Given the description of an element on the screen output the (x, y) to click on. 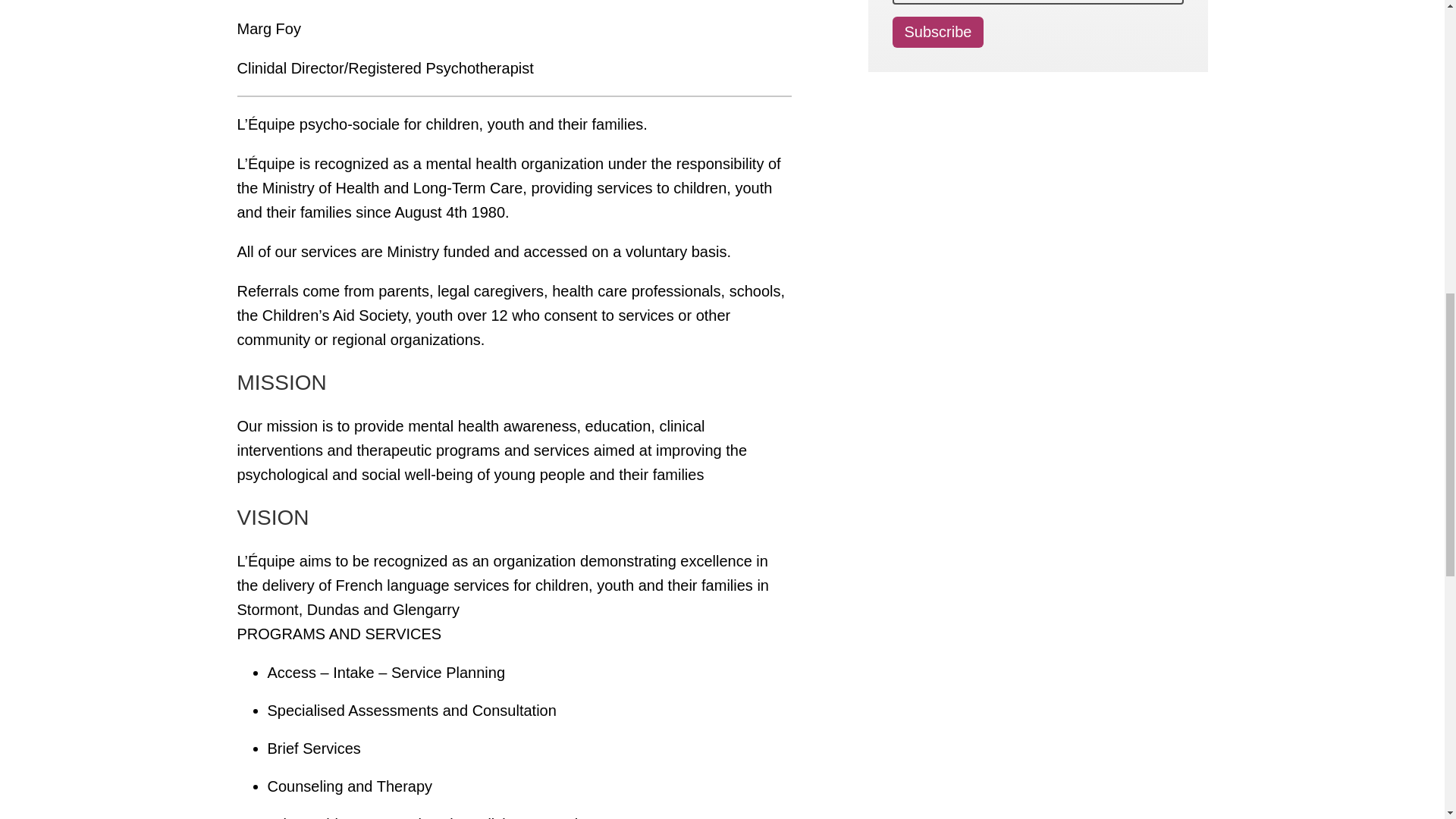
Subscribe to newsletter (937, 31)
Subscribe (937, 31)
